Given the description of an element on the screen output the (x, y) to click on. 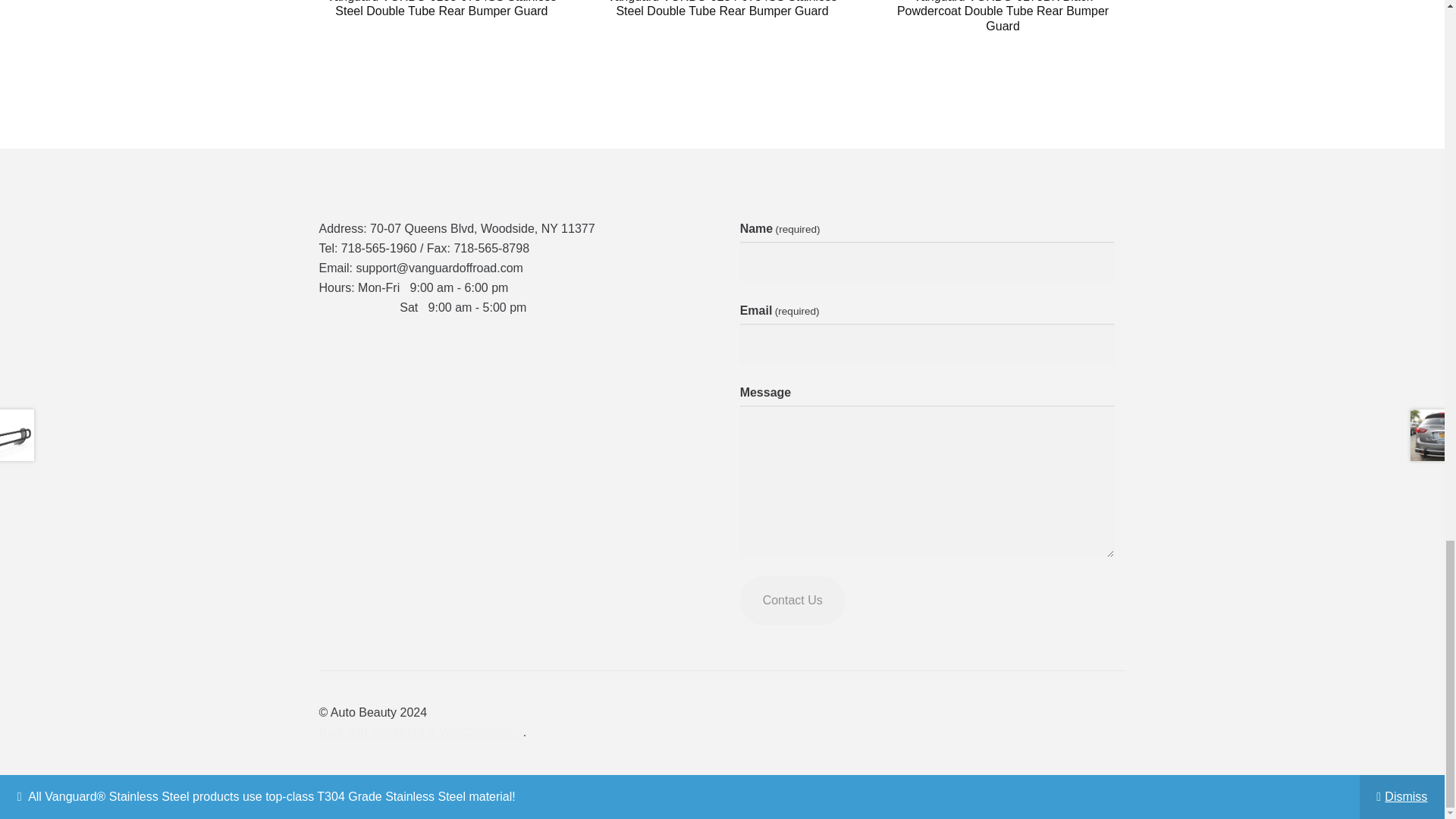
WooCommerce - The Best eCommerce Platform for WordPress (420, 731)
